Given the description of an element on the screen output the (x, y) to click on. 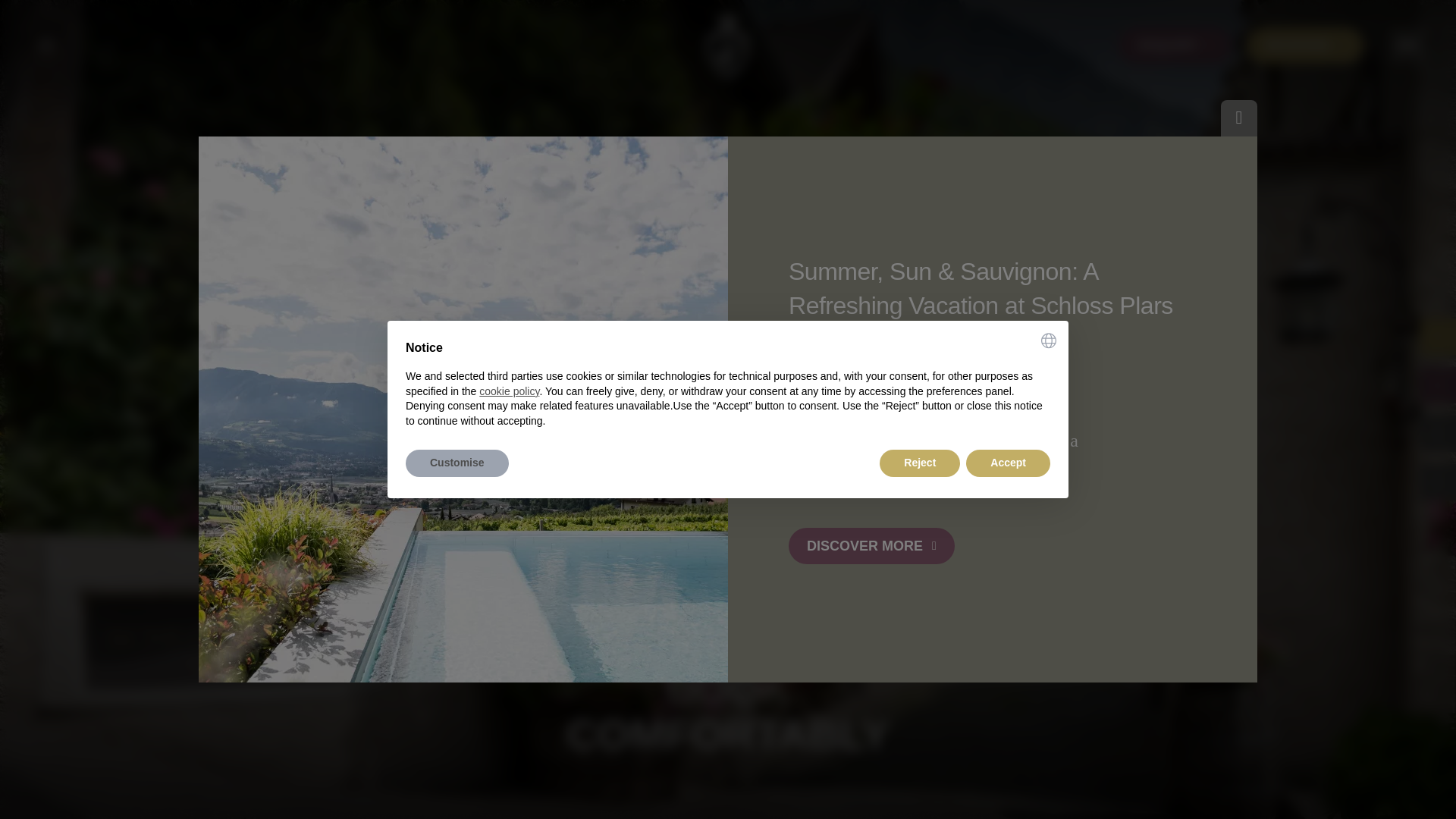
Accept (1007, 462)
instagram (159, 45)
Booking (1304, 45)
Customise (457, 462)
Reject (919, 462)
Discover more (872, 545)
Contact Us (207, 45)
facebook (111, 45)
Enquiry (1174, 45)
cookie policy (508, 390)
